Given the description of an element on the screen output the (x, y) to click on. 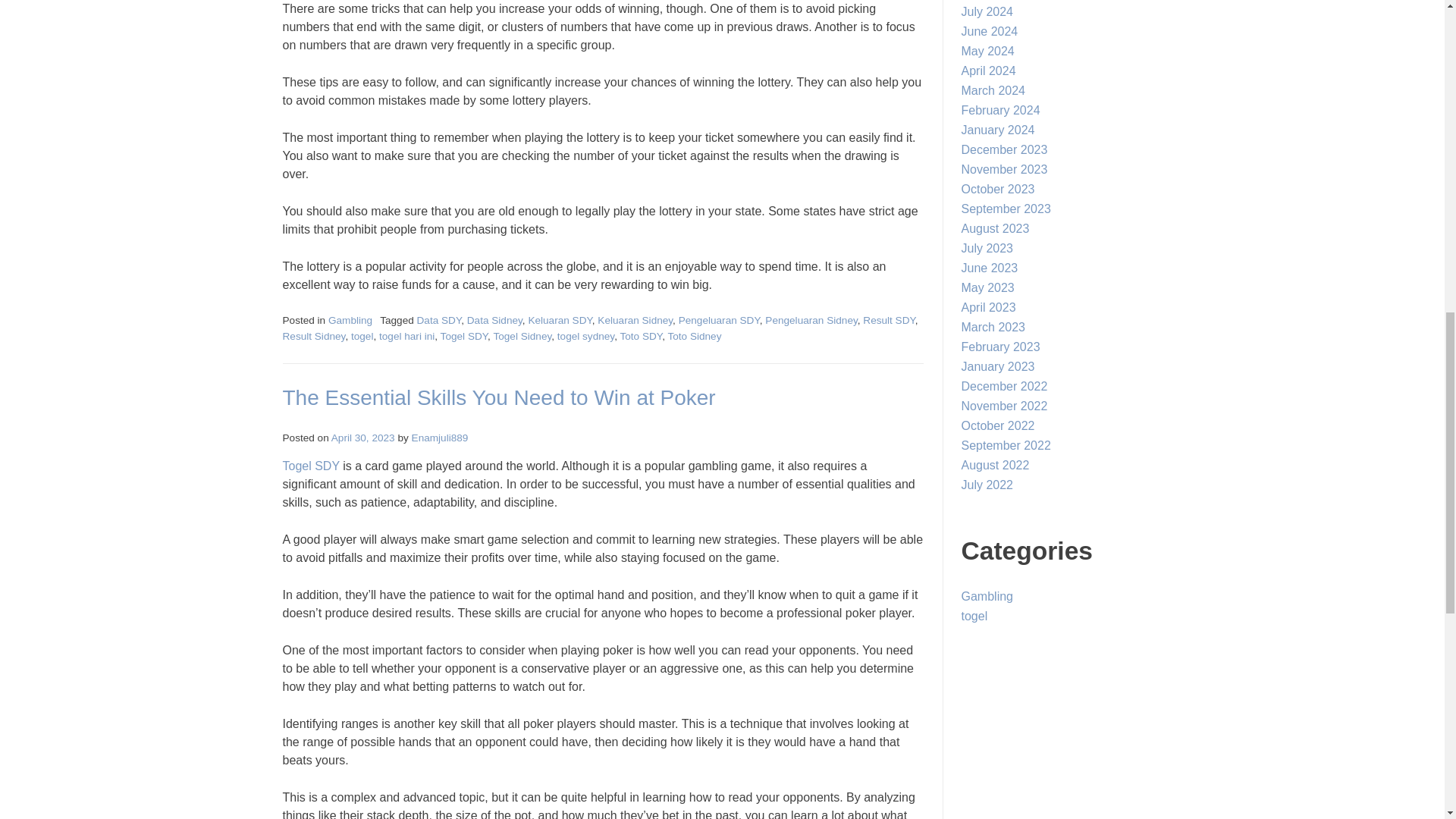
Enamjuli889 (440, 437)
Data Sidney (494, 319)
togel sydney (585, 336)
Gambling (350, 319)
togel hari ini (405, 336)
Togel SDY (310, 465)
April 30, 2023 (362, 437)
Toto SDY (641, 336)
Result Sidney (313, 336)
Keluaran SDY (559, 319)
Data SDY (438, 319)
Keluaran Sidney (634, 319)
Togel SDY (464, 336)
The Essential Skills You Need to Win at Poker (498, 397)
Pengeluaran SDY (719, 319)
